Given the description of an element on the screen output the (x, y) to click on. 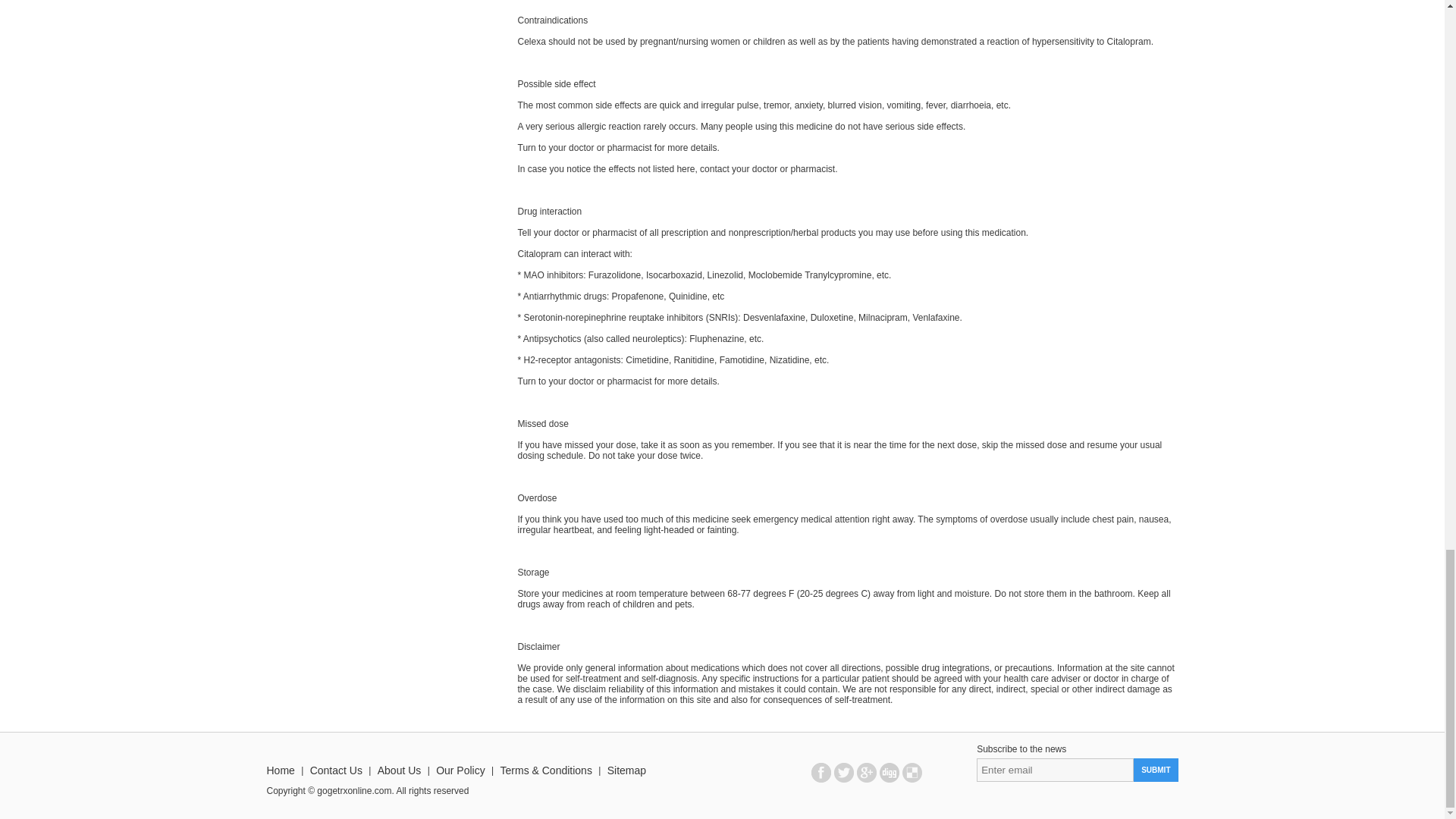
SUBMIT (1155, 770)
